Given the description of an element on the screen output the (x, y) to click on. 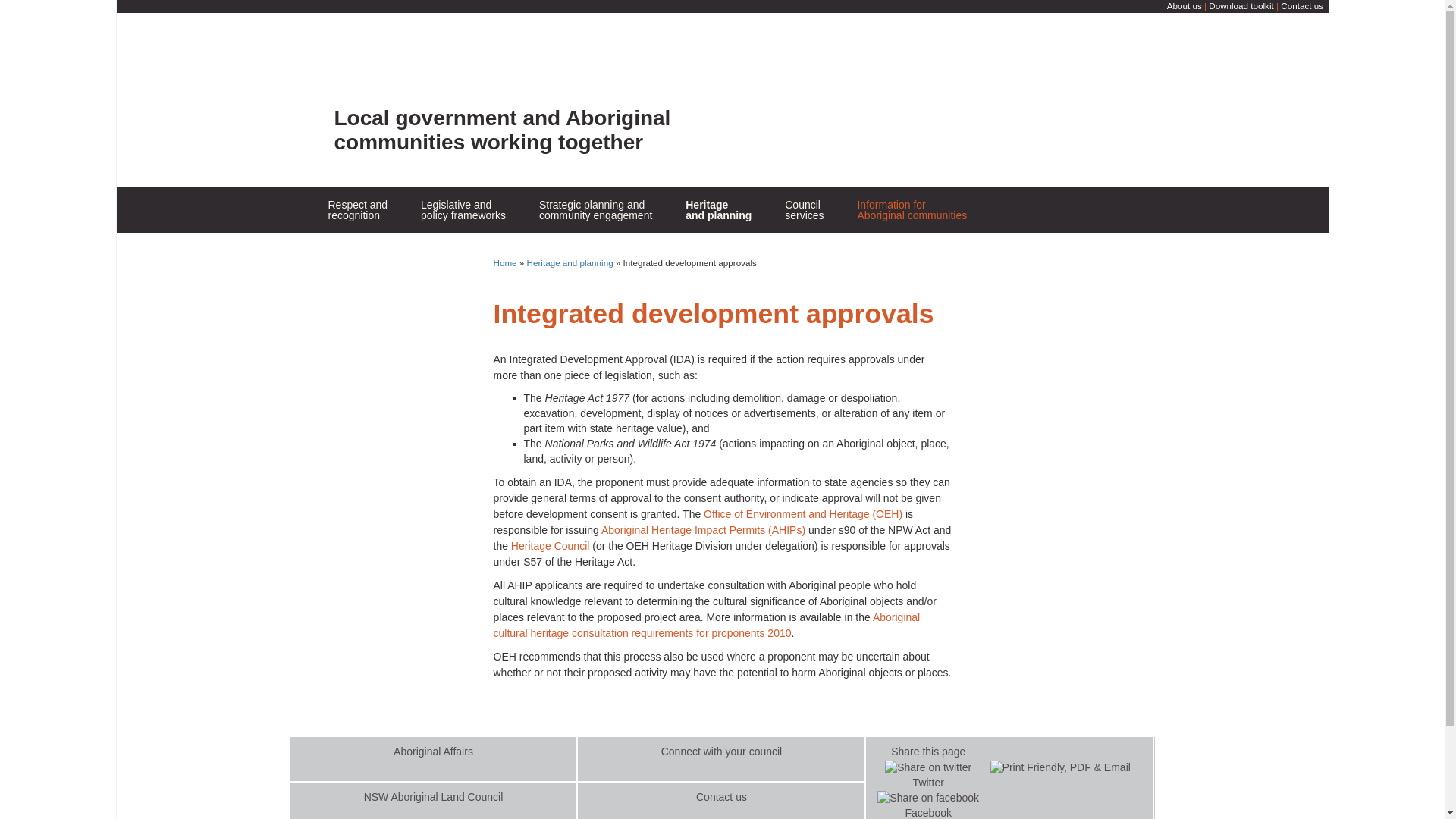
Download toolkit (1241, 5)
Understanding Land Rights and Native Title (480, 253)
Promoting access to council services (844, 253)
Skip to content (911, 209)
Twitter (595, 209)
facebook (744, 248)
